Given the description of an element on the screen output the (x, y) to click on. 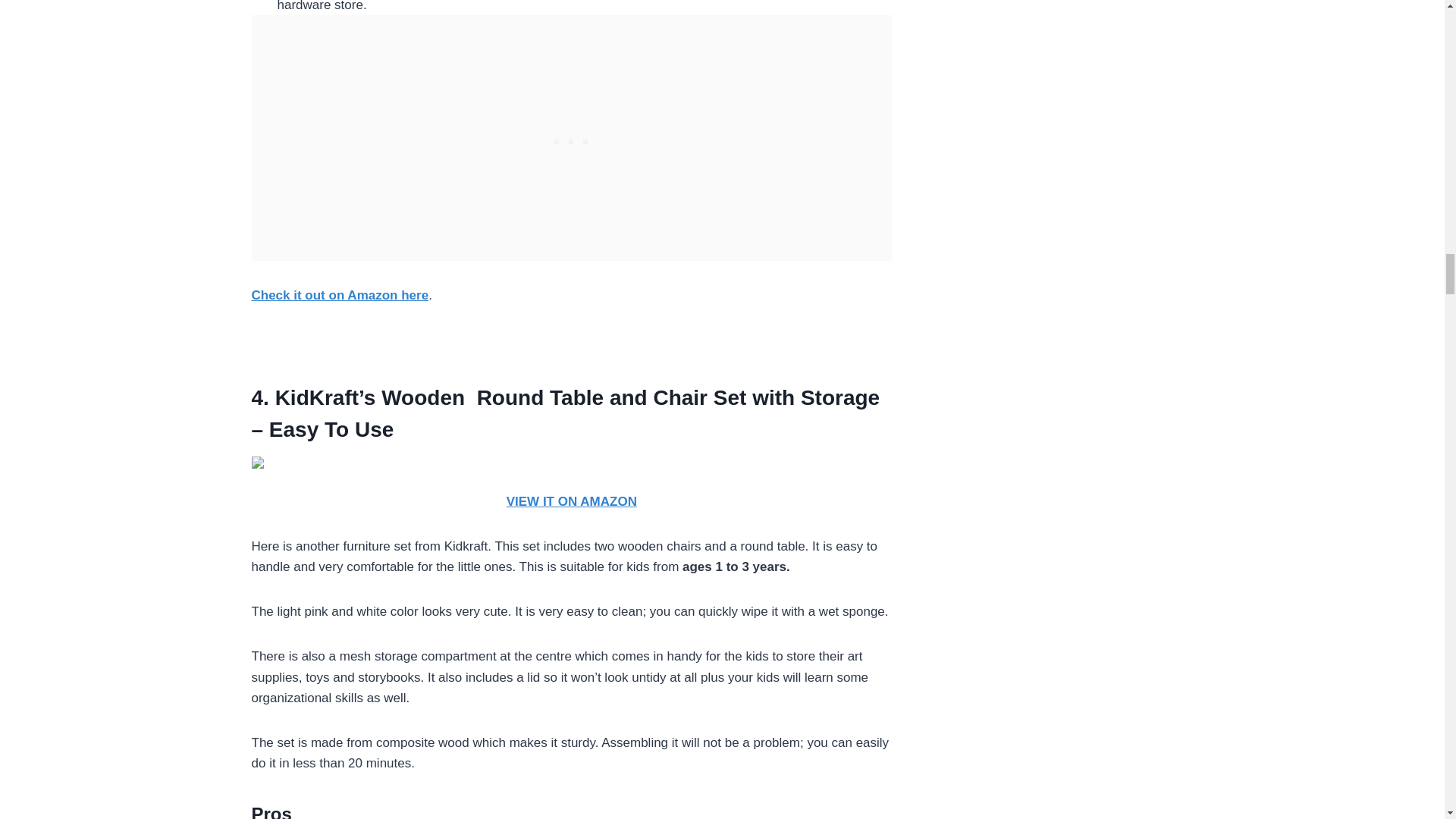
VIEW IT ON AMAZON (571, 501)
Check it out on Amazon here (340, 295)
